Given the description of an element on the screen output the (x, y) to click on. 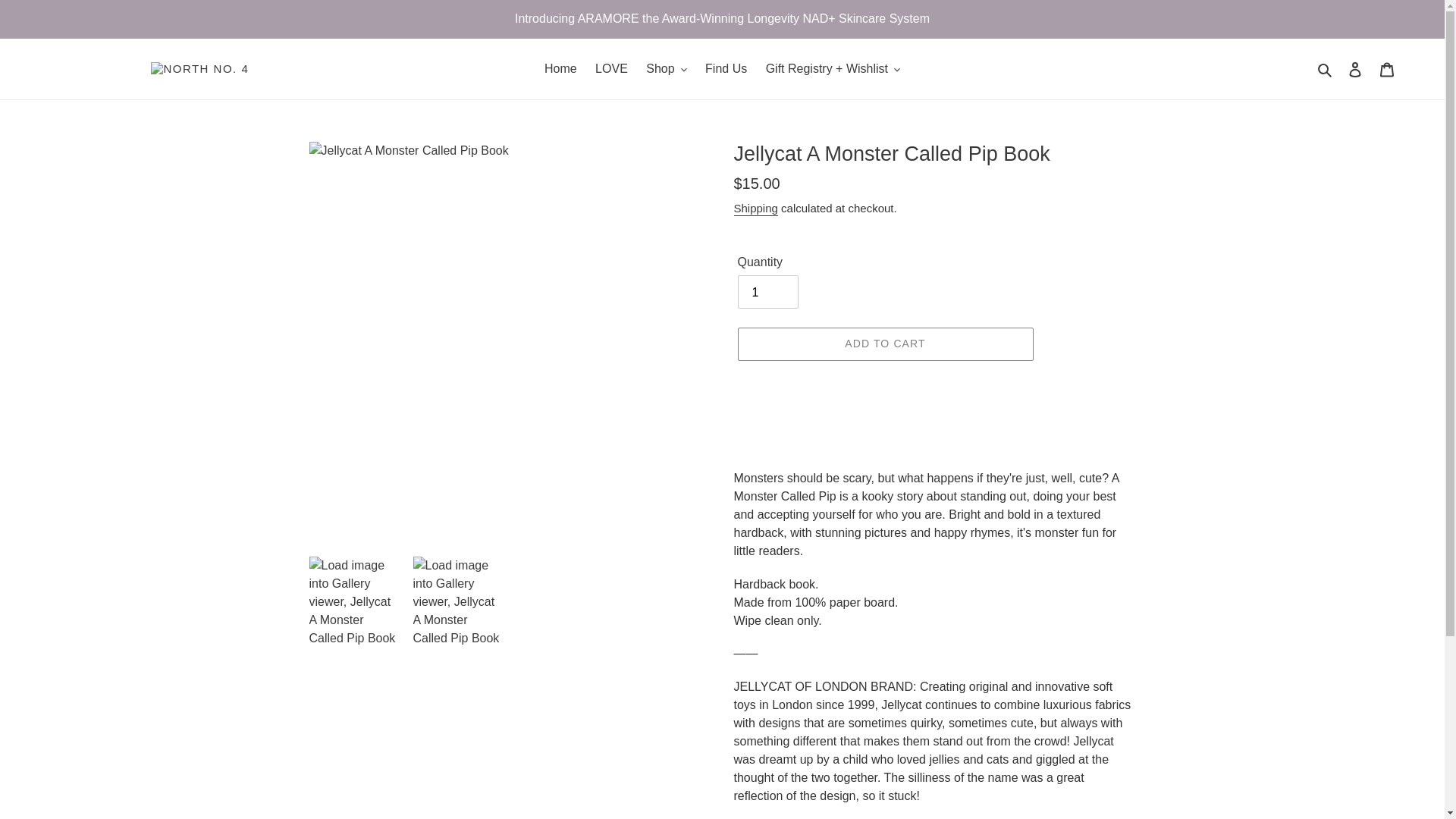
Home (561, 68)
LOVE (611, 68)
Find Us (725, 68)
Search (1326, 68)
Shop (666, 68)
Log in (1355, 68)
1 (766, 291)
